Given the description of an element on the screen output the (x, y) to click on. 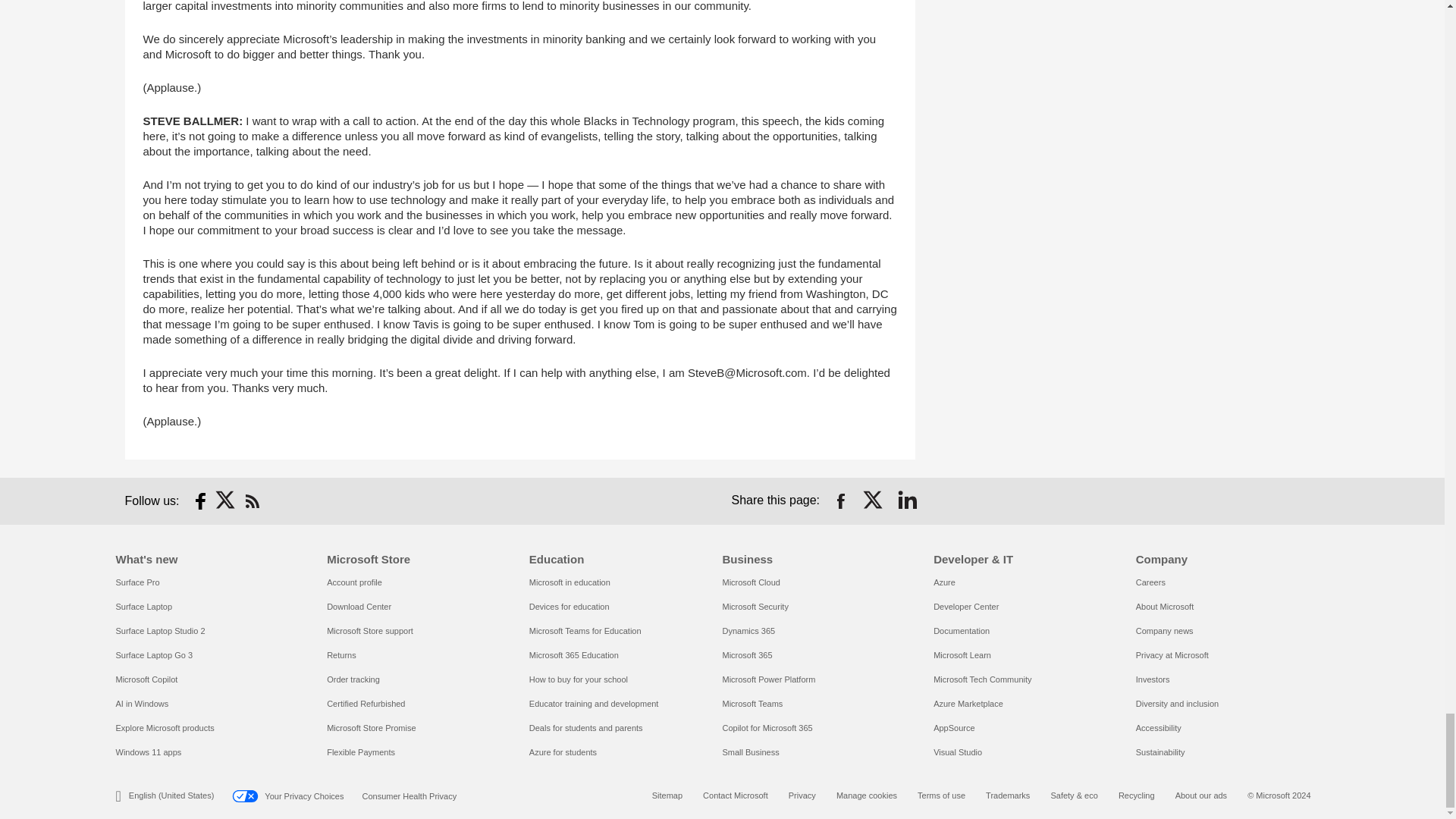
Follow on Twitter (226, 500)
RSS Subscription (252, 500)
Share on Facebook (840, 500)
Follow on Facebook (200, 500)
Share on LinkedIn (907, 500)
Share on Twitter (873, 500)
